Given the description of an element on the screen output the (x, y) to click on. 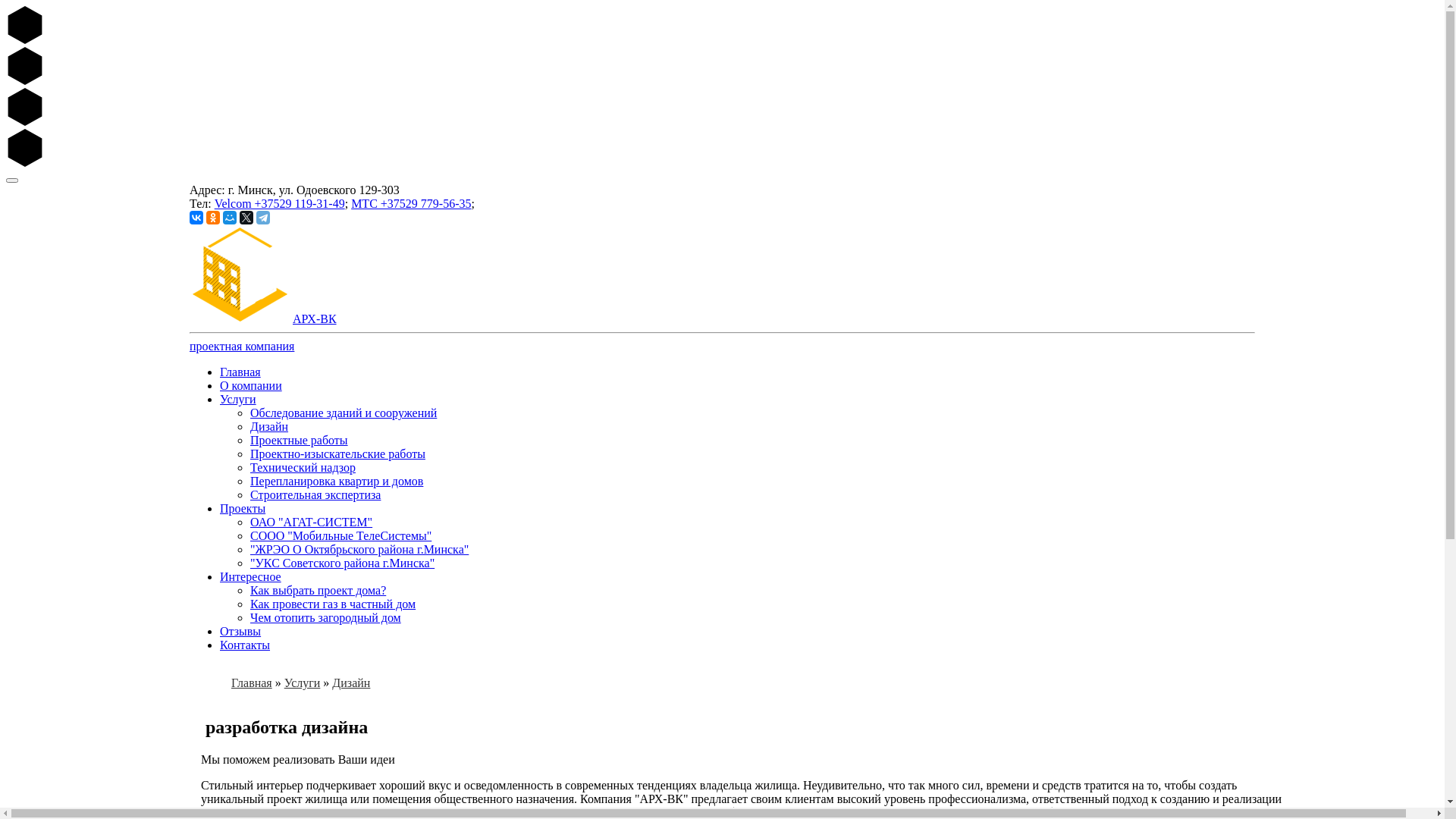
Telegram Element type: hover (262, 217)
Velcom +37529 119-31-49 Element type: text (279, 203)
Twitter Element type: hover (246, 217)
